Given the description of an element on the screen output the (x, y) to click on. 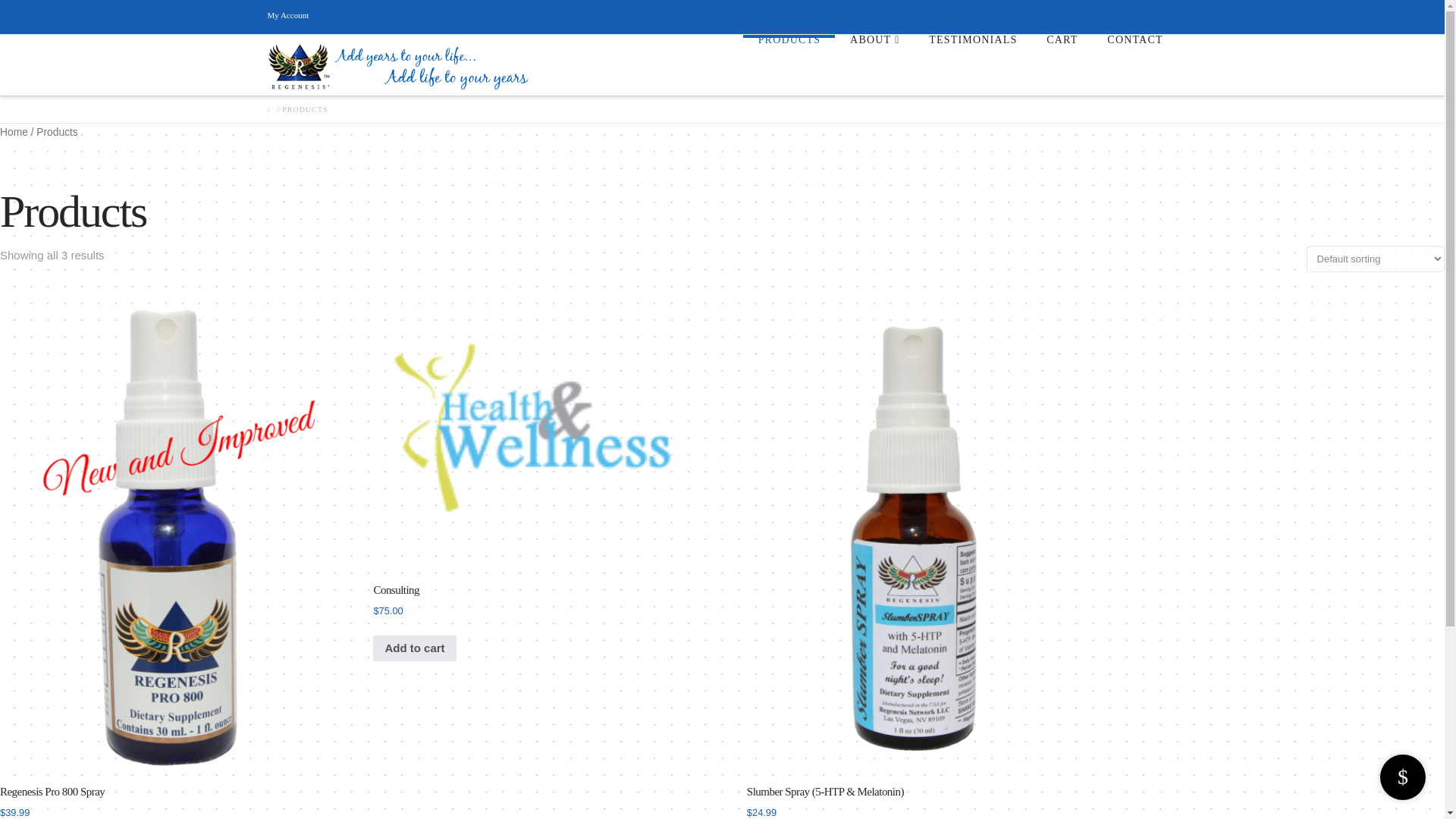
CART (1061, 65)
You Are Here (304, 109)
PRODUCTS (788, 65)
TESTIMONIALS (972, 65)
ABOUT (874, 65)
Add to cart (413, 647)
Home (13, 132)
My Account (287, 14)
CONTACT (1134, 65)
PRODUCTS (304, 109)
